Given the description of an element on the screen output the (x, y) to click on. 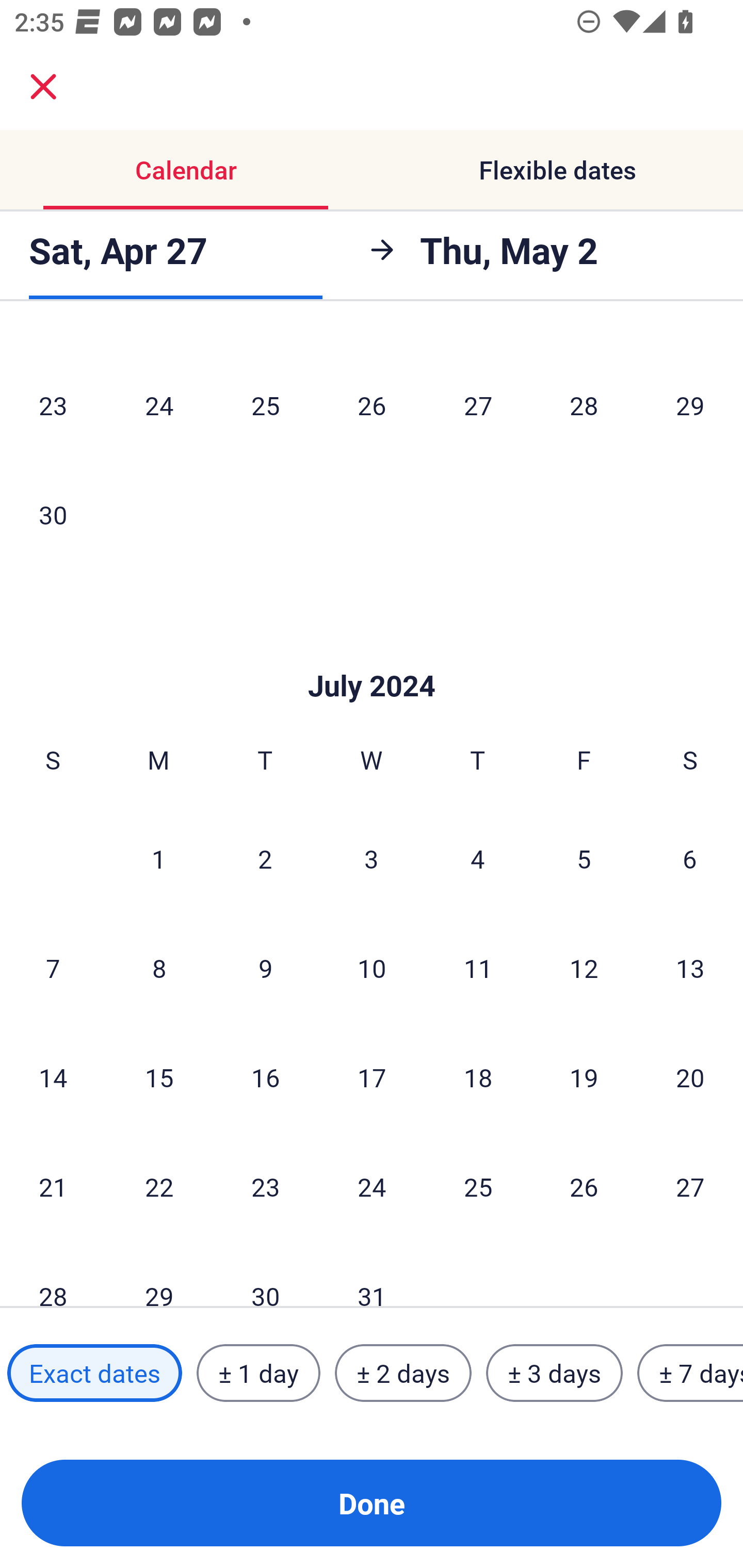
close. (43, 86)
Flexible dates (557, 170)
23 Sunday, June 23, 2024 (53, 404)
24 Monday, June 24, 2024 (159, 404)
25 Tuesday, June 25, 2024 (265, 404)
26 Wednesday, June 26, 2024 (371, 404)
27 Thursday, June 27, 2024 (477, 404)
28 Friday, June 28, 2024 (584, 404)
29 Saturday, June 29, 2024 (690, 404)
30 Sunday, June 30, 2024 (53, 513)
Skip to Done (371, 654)
1 Monday, July 1, 2024 (158, 858)
2 Tuesday, July 2, 2024 (264, 858)
3 Wednesday, July 3, 2024 (371, 858)
4 Thursday, July 4, 2024 (477, 858)
5 Friday, July 5, 2024 (583, 858)
6 Saturday, July 6, 2024 (689, 858)
7 Sunday, July 7, 2024 (53, 967)
8 Monday, July 8, 2024 (159, 967)
9 Tuesday, July 9, 2024 (265, 967)
10 Wednesday, July 10, 2024 (371, 967)
11 Thursday, July 11, 2024 (477, 967)
12 Friday, July 12, 2024 (584, 967)
13 Saturday, July 13, 2024 (690, 967)
14 Sunday, July 14, 2024 (53, 1076)
15 Monday, July 15, 2024 (159, 1076)
16 Tuesday, July 16, 2024 (265, 1076)
17 Wednesday, July 17, 2024 (371, 1076)
18 Thursday, July 18, 2024 (477, 1076)
19 Friday, July 19, 2024 (584, 1076)
20 Saturday, July 20, 2024 (690, 1076)
21 Sunday, July 21, 2024 (53, 1185)
22 Monday, July 22, 2024 (159, 1185)
23 Tuesday, July 23, 2024 (265, 1185)
24 Wednesday, July 24, 2024 (371, 1185)
25 Thursday, July 25, 2024 (477, 1185)
26 Friday, July 26, 2024 (584, 1185)
27 Saturday, July 27, 2024 (690, 1185)
28 Sunday, July 28, 2024 (53, 1274)
29 Monday, July 29, 2024 (159, 1274)
30 Tuesday, July 30, 2024 (265, 1274)
31 Wednesday, July 31, 2024 (371, 1274)
Exact dates (94, 1372)
± 1 day (258, 1372)
± 2 days (403, 1372)
± 3 days (553, 1372)
± 7 days (690, 1372)
Done (371, 1502)
